Given the description of an element on the screen output the (x, y) to click on. 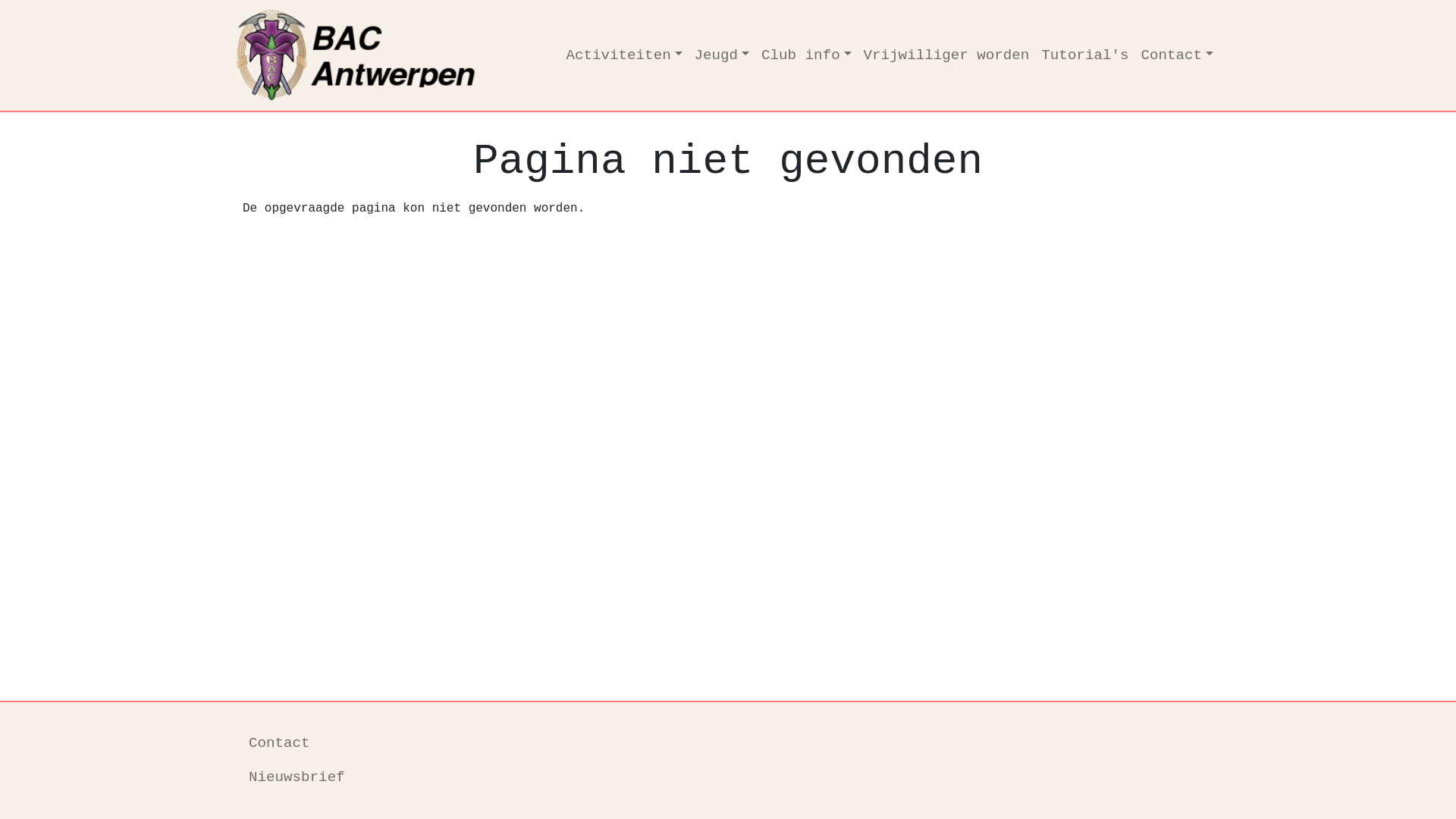
Nieuwsbrief Element type: text (727, 777)
Home Element type: hover (387, 54)
Tutorial's Element type: text (1084, 55)
Vrijwilliger worden Element type: text (946, 55)
Contact Element type: text (727, 743)
Jeugd Element type: text (721, 55)
